Given the description of an element on the screen output the (x, y) to click on. 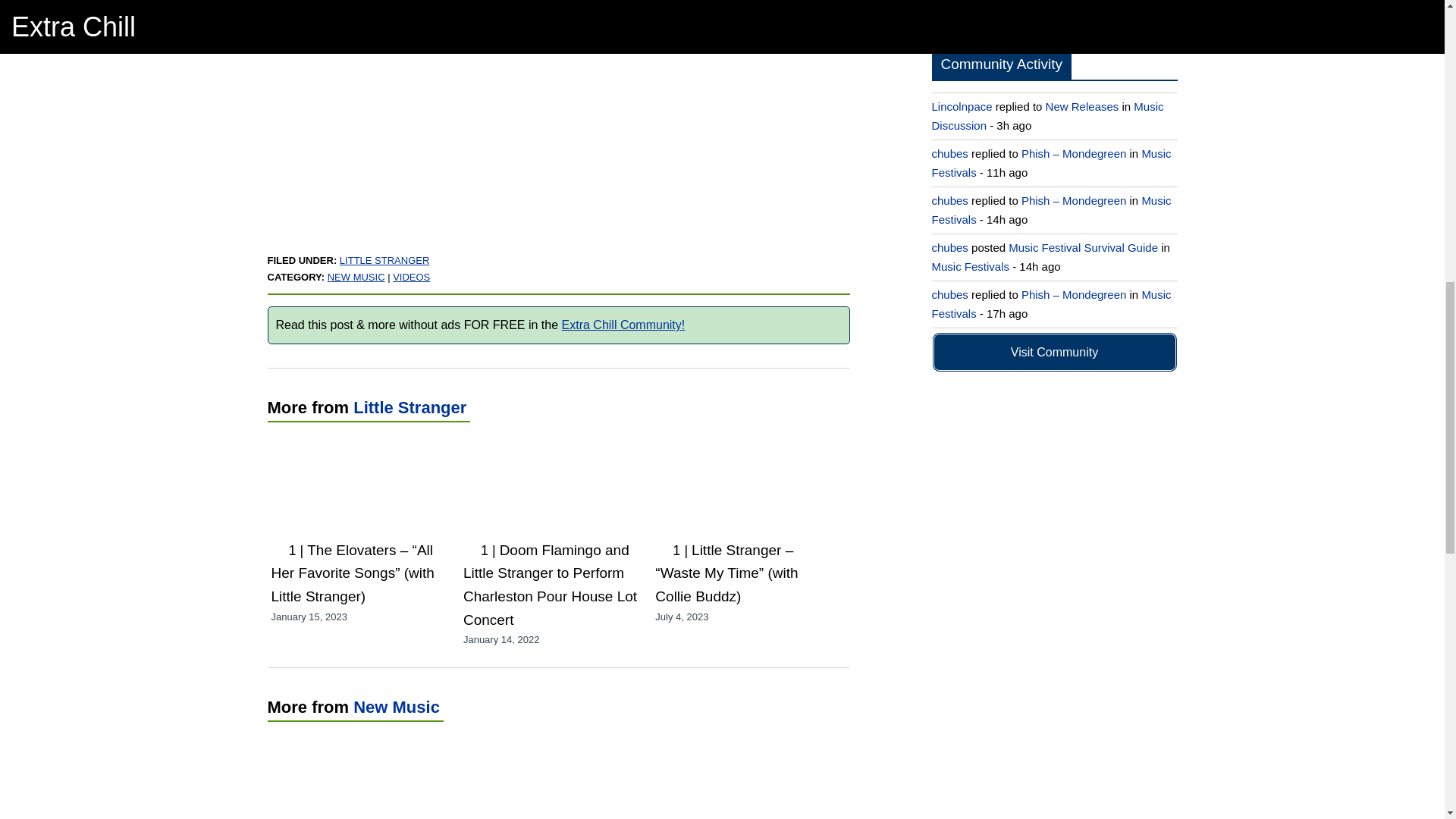
LITTLE STRANGER (384, 260)
VIDEOS (411, 276)
NEW MUSIC (356, 276)
Extra Chill Community! (623, 324)
Little Stranger (409, 406)
